Given the description of an element on the screen output the (x, y) to click on. 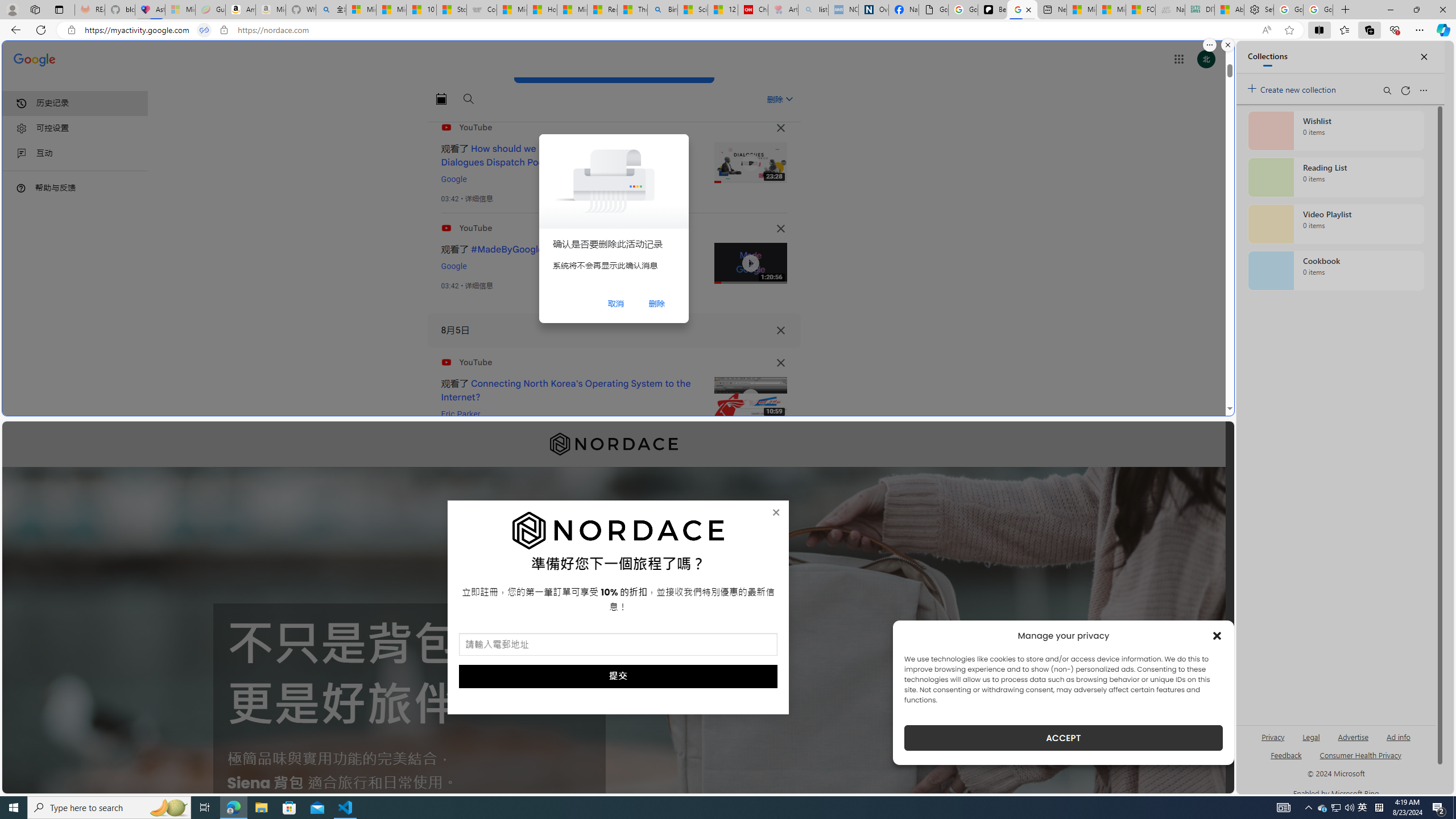
Class: TjcpUd NMm5M (780, 362)
Class: DI7Mnf NMm5M (780, 330)
Close split screen. (1227, 45)
